Given the description of an element on the screen output the (x, y) to click on. 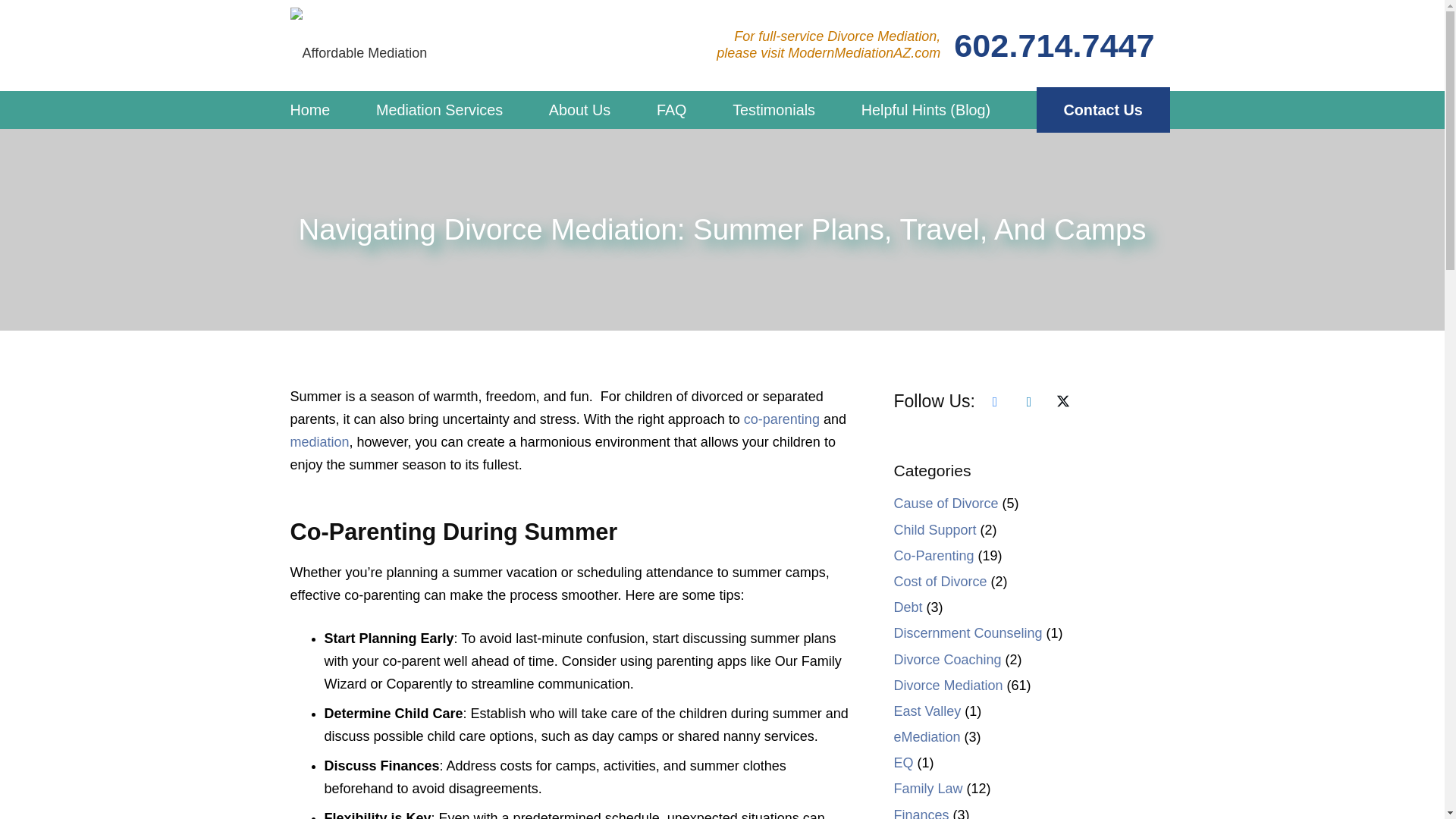
East Valley (926, 711)
About Us (580, 109)
mediation (319, 441)
Cause of Divorce (945, 503)
602.714.7447 (1053, 45)
Divorce Coaching (947, 659)
Home (310, 109)
Discernment Counseling (967, 632)
Contact Us (1103, 109)
Facebook (994, 401)
